Given the description of an element on the screen output the (x, y) to click on. 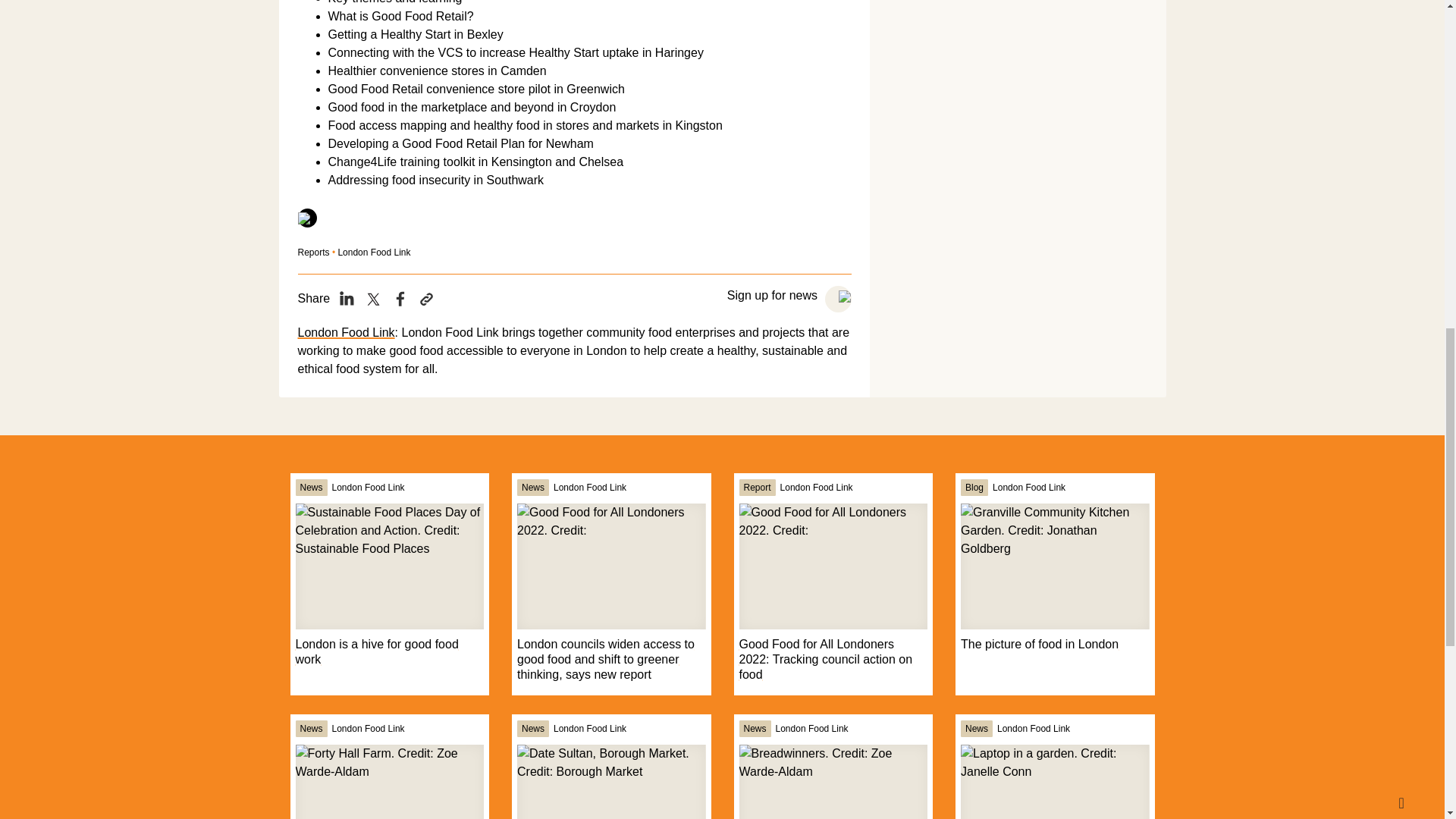
News (311, 487)
London Food Link (368, 487)
Good Food for All Londoners 2022. Credit:  (610, 566)
Facebook (400, 298)
Sign up for news (773, 295)
Get updates (838, 298)
Date Sultan, Borough Market. Credit: Borough Market (610, 781)
Laptop in a garden. Credit: Janelle Conn (1054, 781)
London Food Link (345, 332)
